Given the description of an element on the screen output the (x, y) to click on. 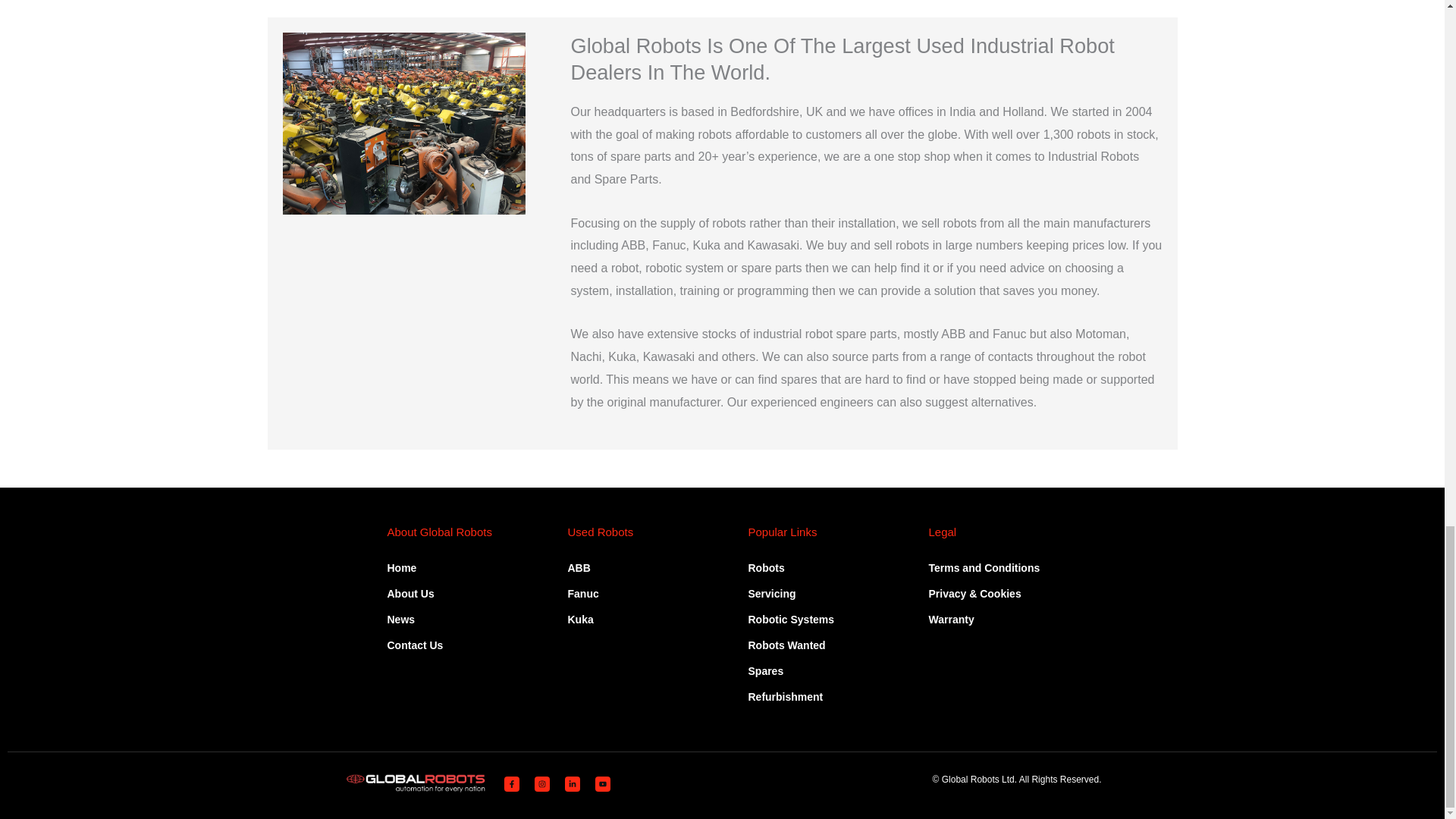
Home (414, 567)
Robotic Systems (791, 619)
Fanuc (582, 593)
Servicing (791, 593)
ABB (582, 567)
About Us (414, 593)
Kuka (582, 619)
Contact Us (414, 645)
Robots (791, 567)
News (414, 619)
